Given the description of an element on the screen output the (x, y) to click on. 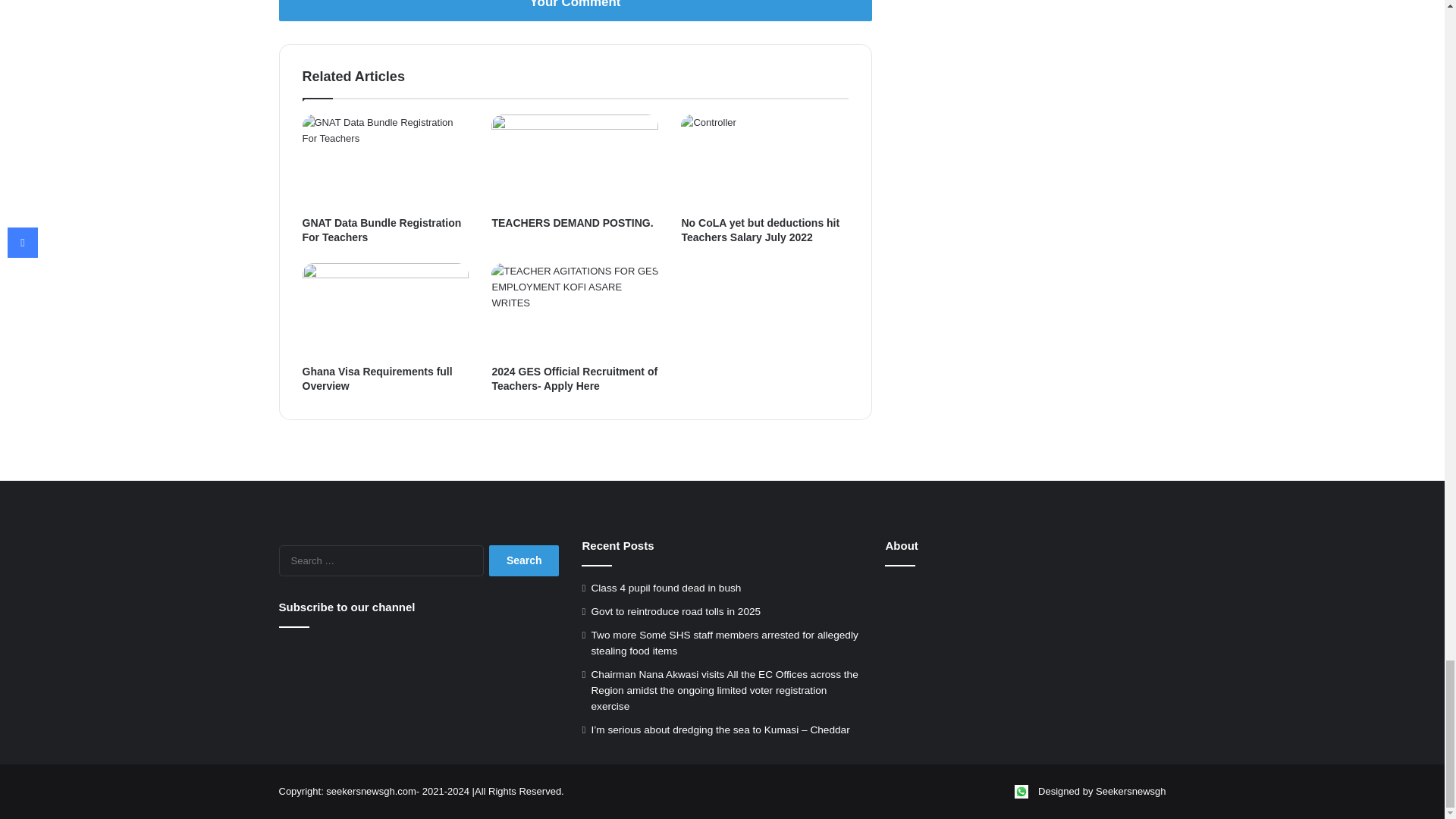
Search (524, 560)
Search (524, 560)
